Given the description of an element on the screen output the (x, y) to click on. 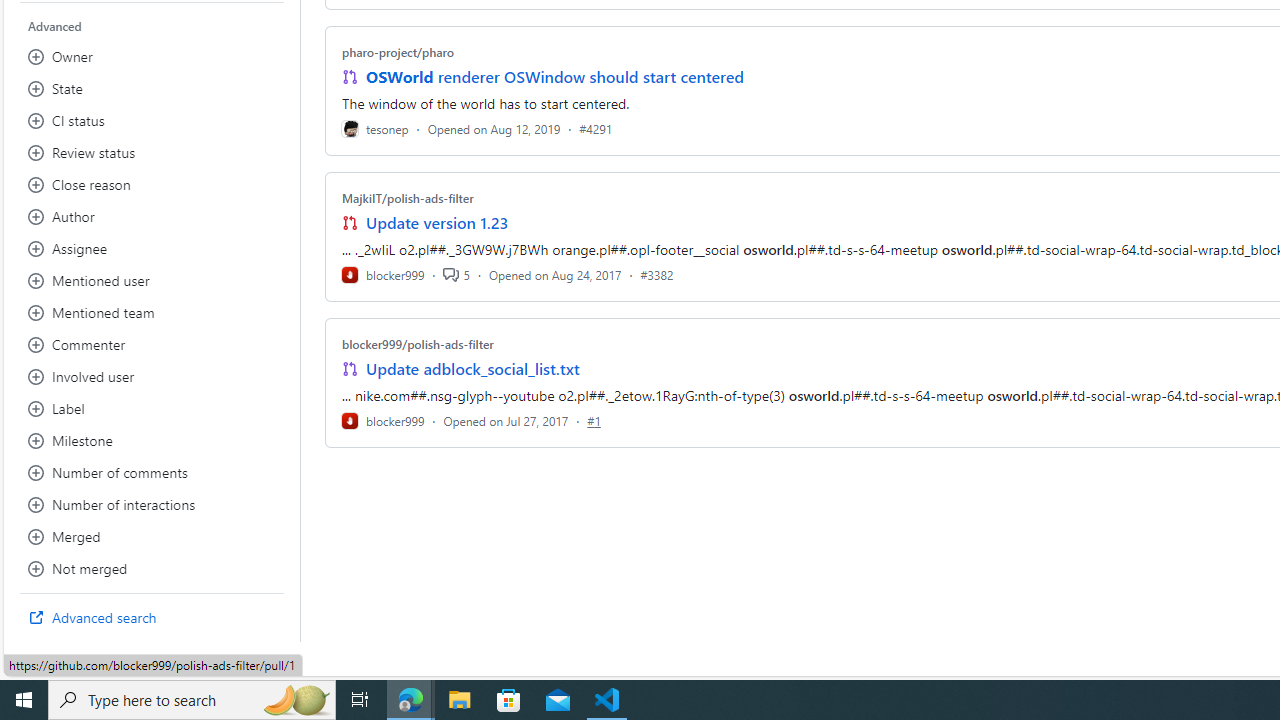
#4291 (595, 128)
Advanced search (152, 617)
tesonep (375, 128)
Update adblock_social_list.txt (472, 368)
5 (455, 273)
